Given the description of an element on the screen output the (x, y) to click on. 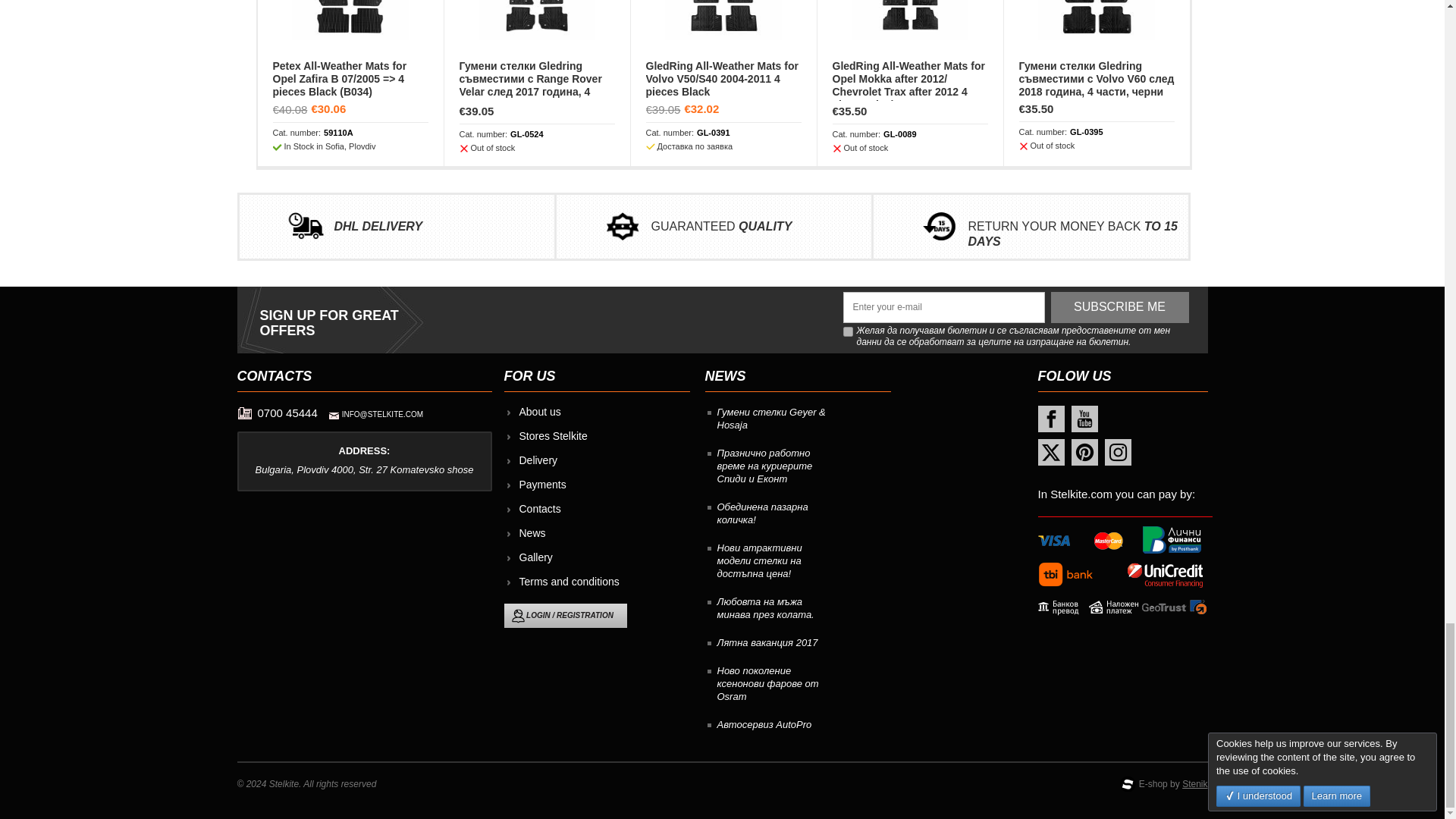
1 (848, 331)
